Given the description of an element on the screen output the (x, y) to click on. 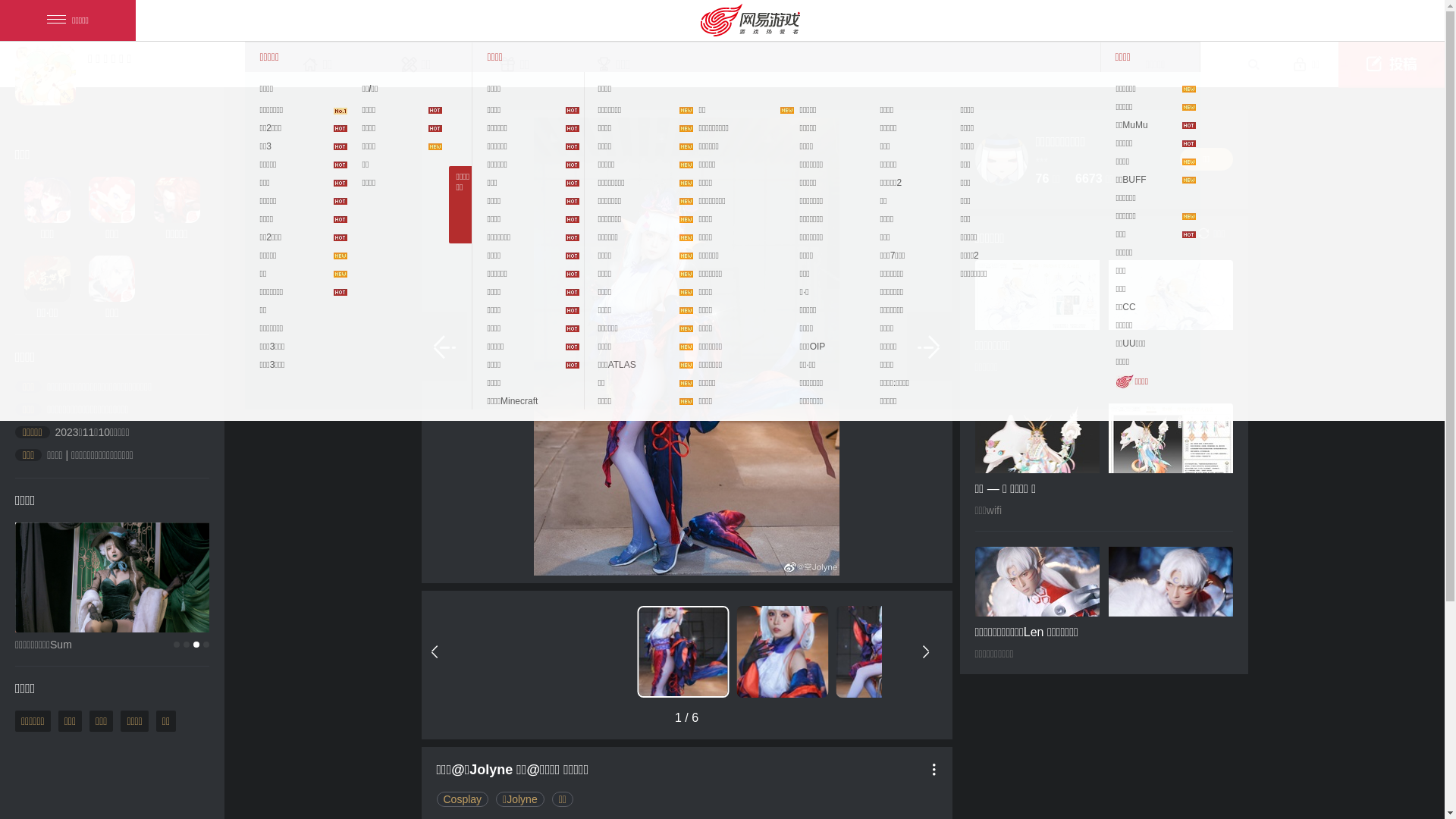
Cosplay Element type: text (462, 798)
